Given the description of an element on the screen output the (x, y) to click on. 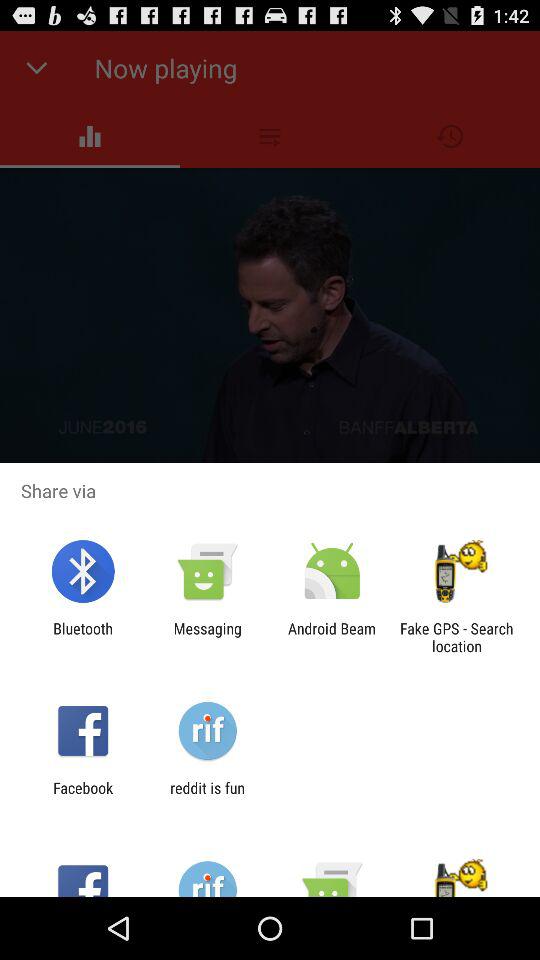
flip until messaging app (207, 637)
